Given the description of an element on the screen output the (x, y) to click on. 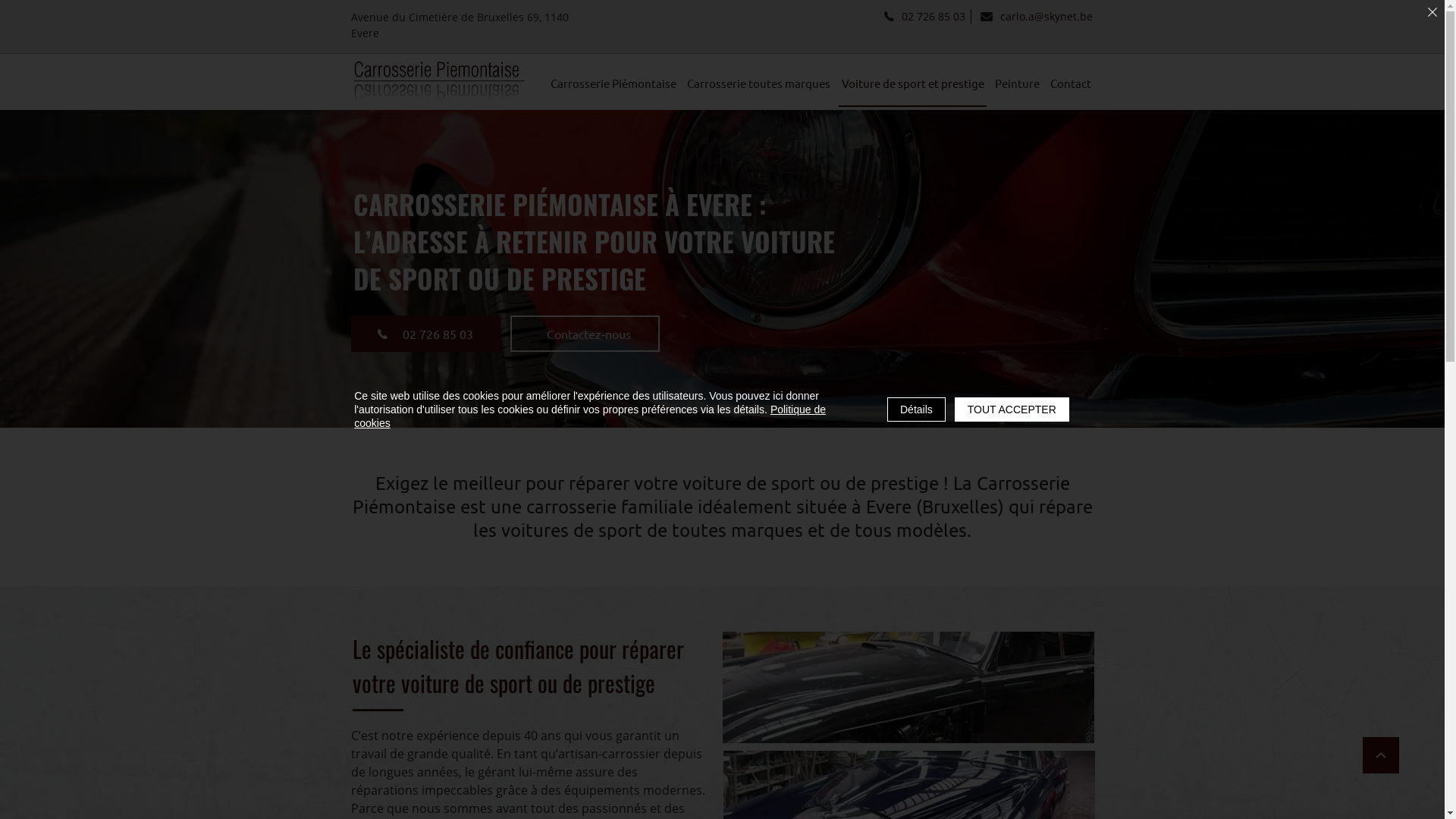
Politique de cookies Element type: text (589, 416)
Carrosserie toutes marques Element type: text (758, 83)
carlo.a@skynet.be Element type: text (1035, 16)
TOUT ACCEPTER Element type: text (1011, 409)
02 726 85 03 Element type: text (924, 16)
Peinture Element type: text (1016, 83)
Voiture de sport et prestige Element type: text (911, 83)
Contact Element type: text (1070, 83)
02 726 85 03 Element type: text (424, 333)
Contactez-nous Element type: text (583, 333)
